Given the description of an element on the screen output the (x, y) to click on. 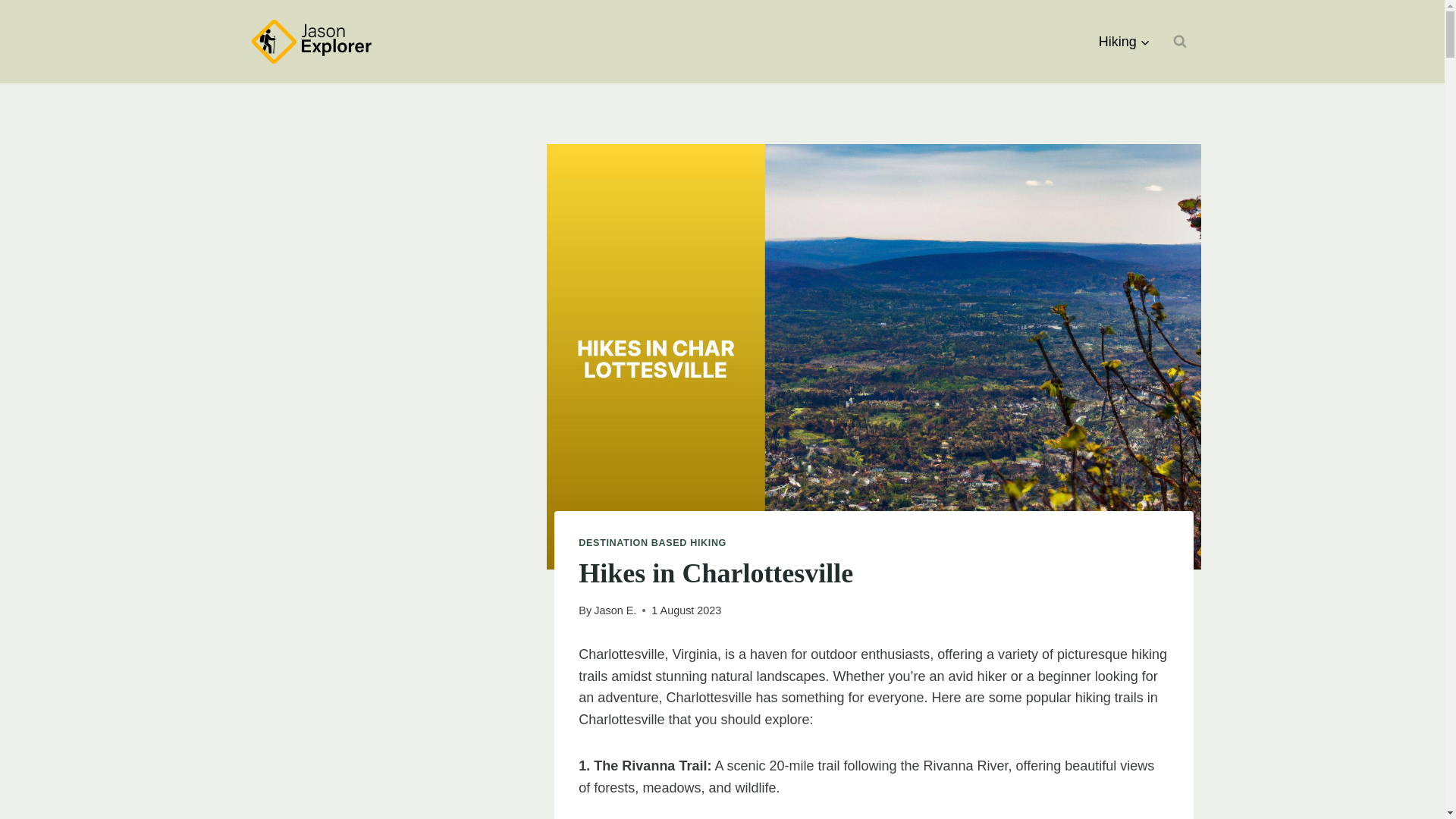
Jason E. (615, 610)
Hiking (1124, 41)
DESTINATION BASED HIKING (652, 542)
